Given the description of an element on the screen output the (x, y) to click on. 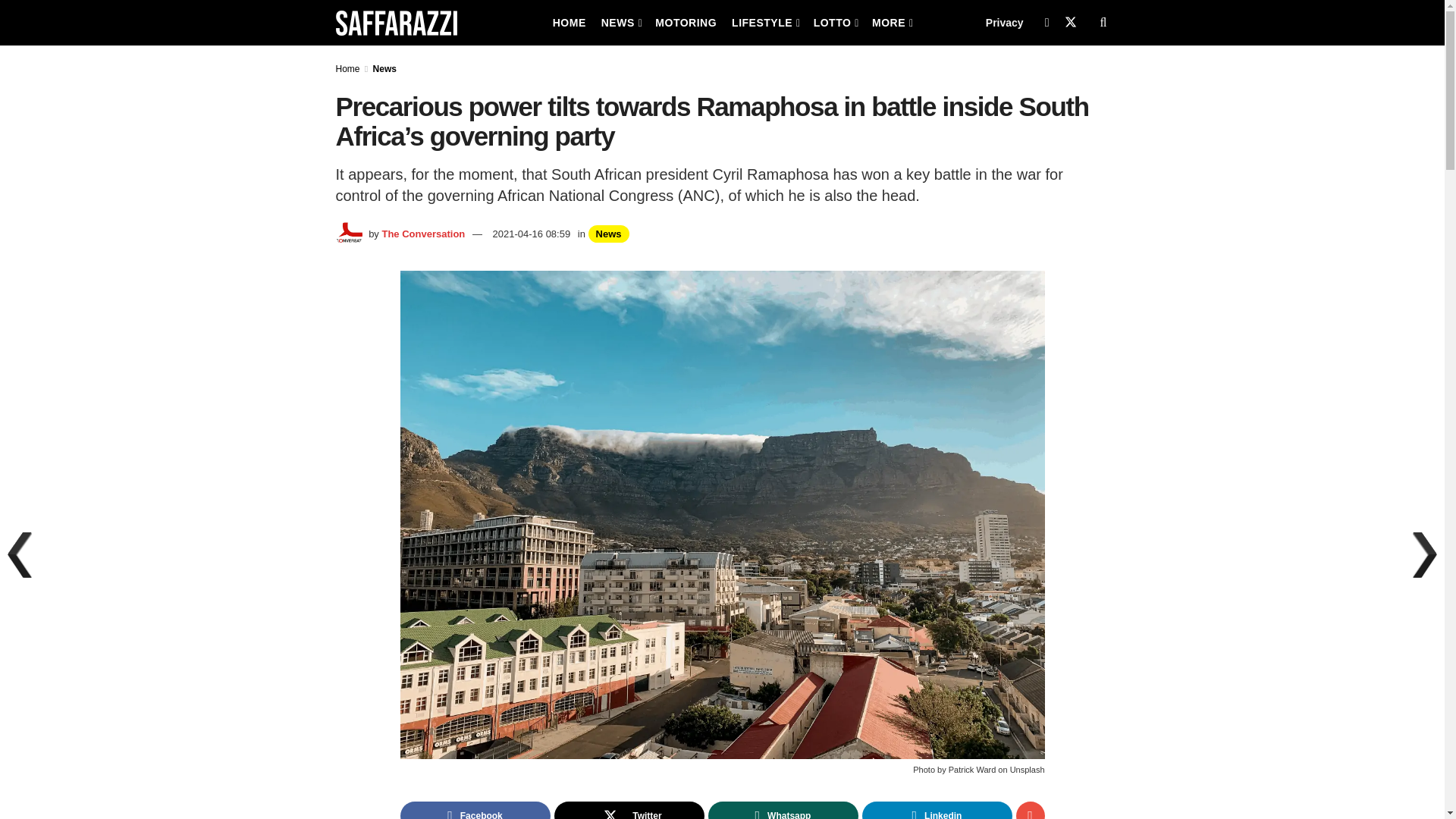
LIFESTYLE (764, 22)
Privacy (1004, 22)
LOTTO (835, 22)
NEWS (620, 22)
MORE (891, 22)
MOTORING (685, 22)
HOME (569, 22)
